Given the description of an element on the screen output the (x, y) to click on. 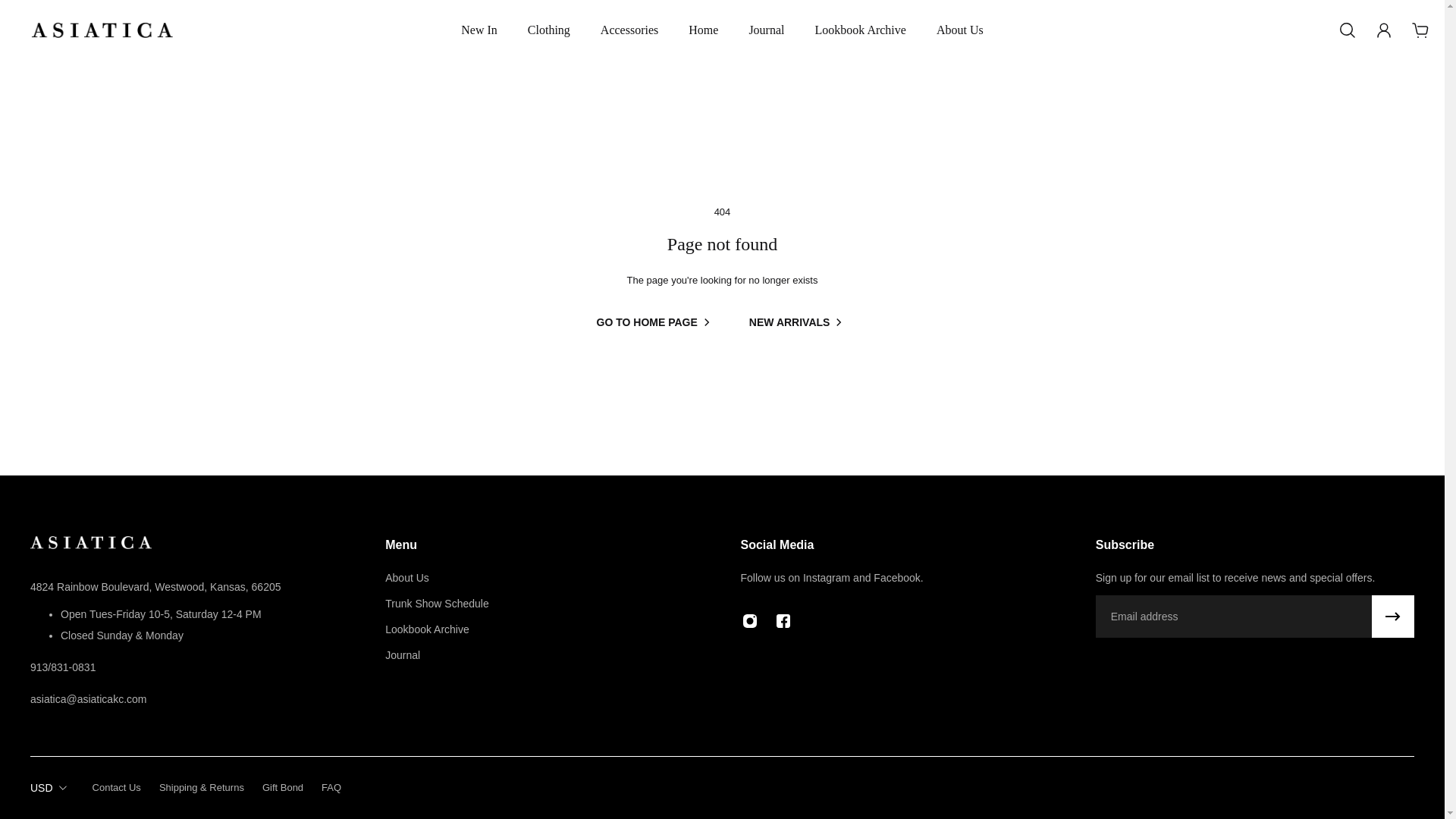
Trunk Show Schedule (436, 603)
Clothing (548, 37)
Accessories (628, 37)
Lookbook Archive (436, 629)
Gift Bond (282, 787)
New In (478, 37)
Lookbook Archive (859, 37)
GO TO HOME PAGE (656, 321)
NEW ARRIVALS (798, 321)
Contact Us (117, 787)
About Us (436, 577)
Journal (766, 37)
Journal (436, 655)
About Us (959, 37)
Home (702, 37)
